Given the description of an element on the screen output the (x, y) to click on. 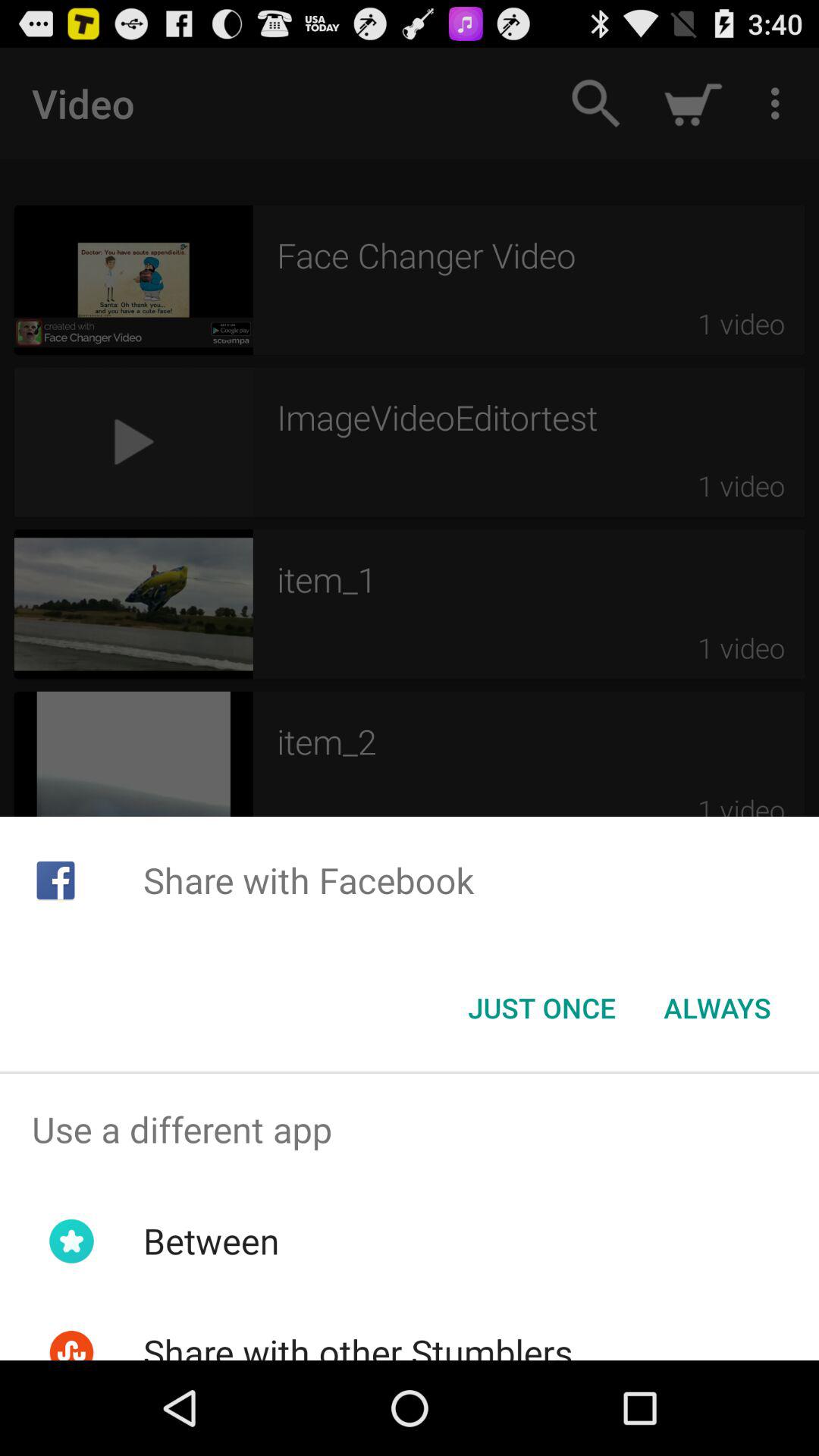
open between app (211, 1240)
